Given the description of an element on the screen output the (x, y) to click on. 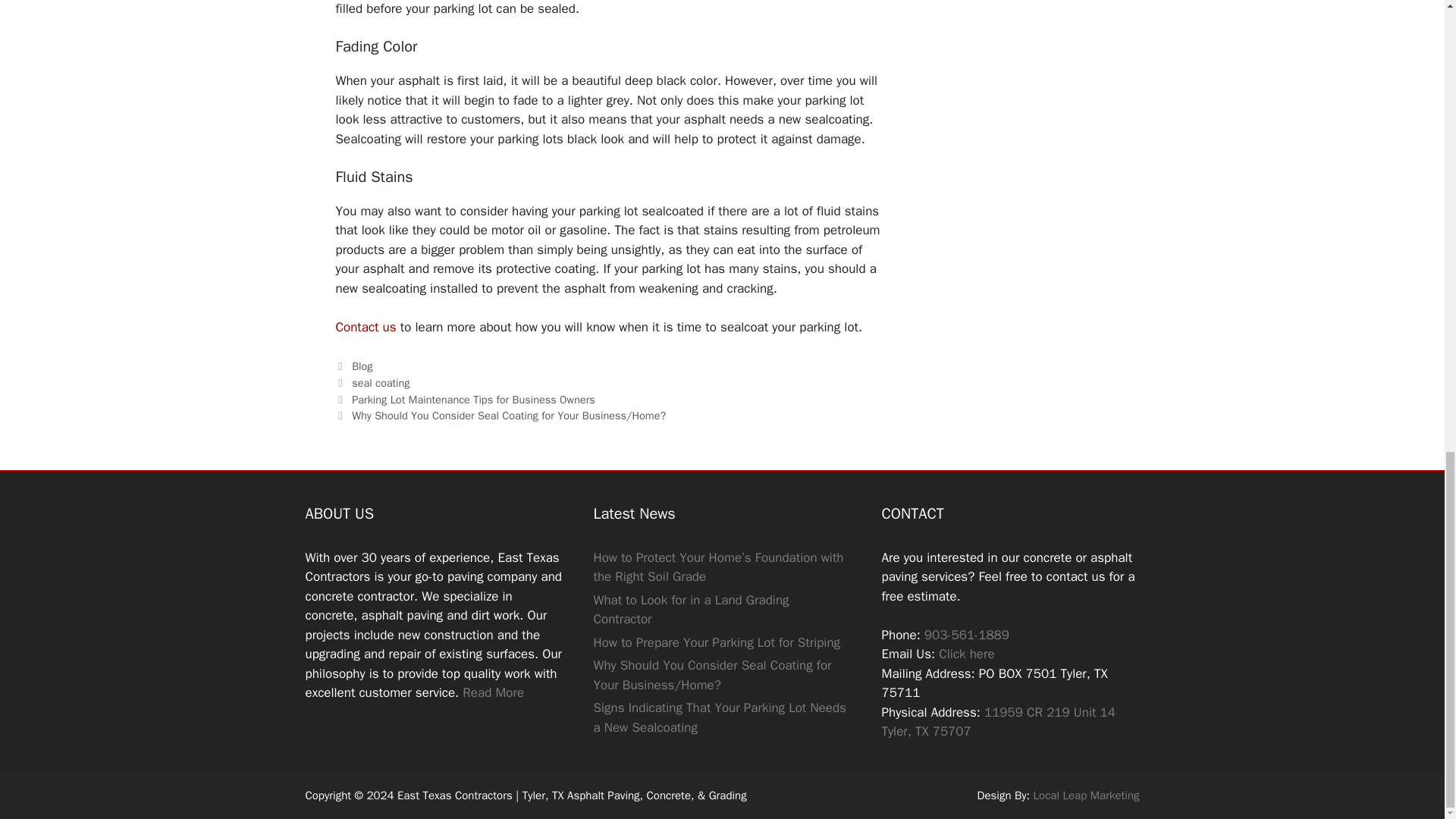
Blog (362, 366)
How to Prepare Your Parking Lot for Striping (716, 642)
Parking Lot Maintenance Tips for Business Owners (473, 399)
Local Leap Marketing (1086, 795)
seal coating (380, 382)
Read More (493, 692)
Previous (464, 399)
903-561-1889 (966, 634)
11959 CR 219 Unit 14 Tyler, TX 75707 (997, 722)
Click here (966, 653)
Next (499, 415)
What to Look for in a Land Grading Contractor (690, 610)
Contact us (365, 326)
